Given the description of an element on the screen output the (x, y) to click on. 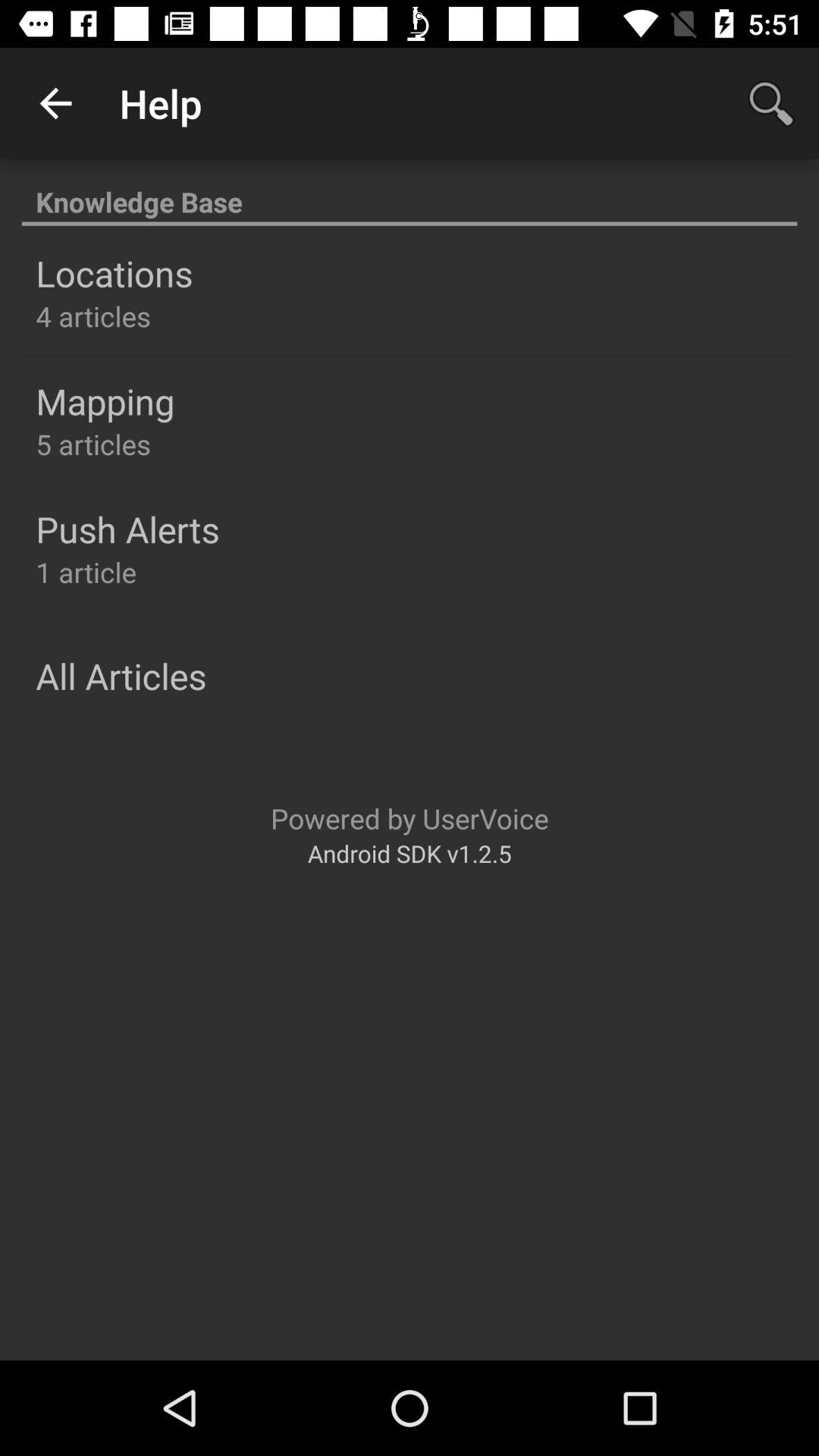
launch the android sdk v1 icon (409, 853)
